Given the description of an element on the screen output the (x, y) to click on. 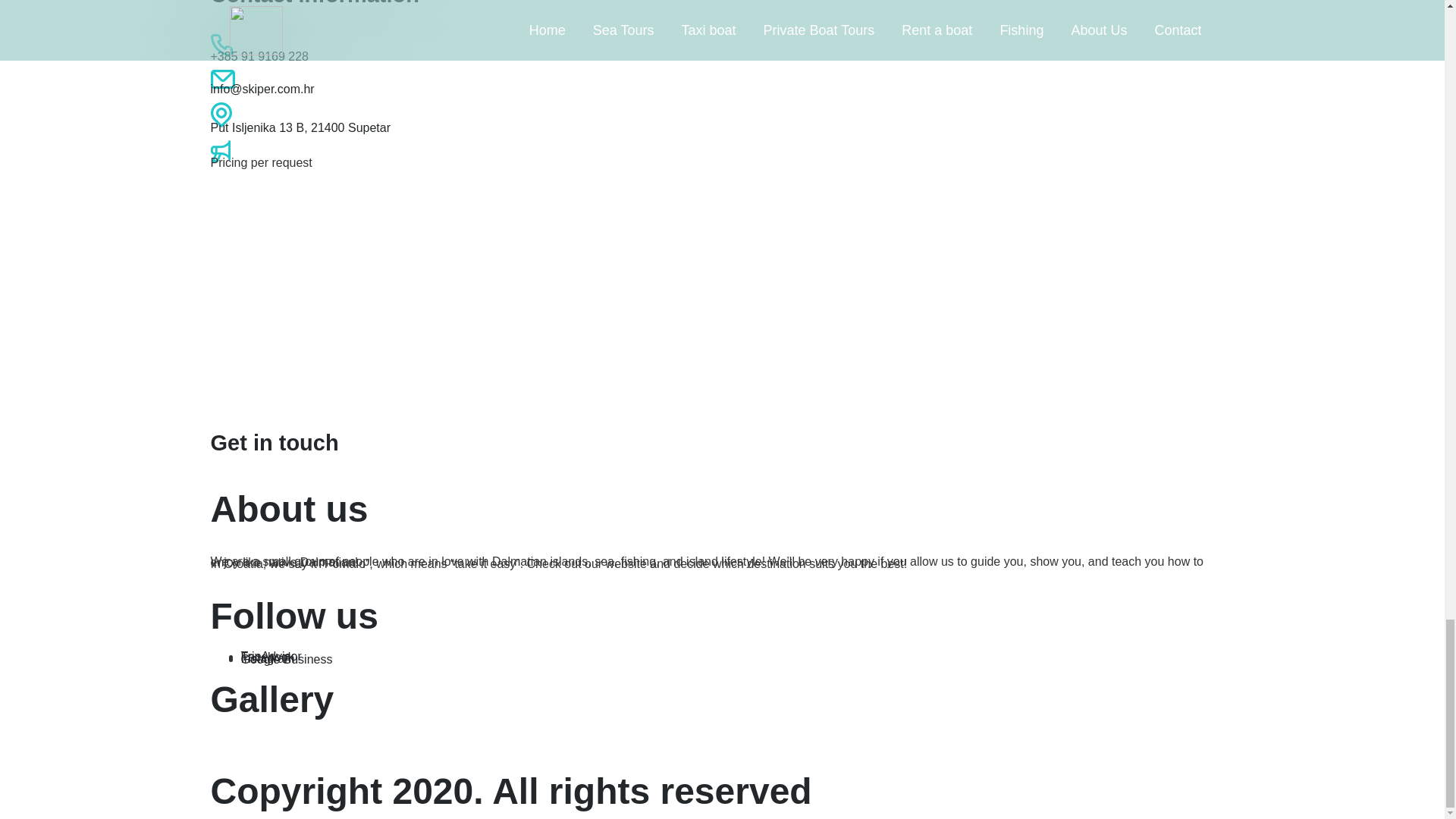
Facebook (267, 656)
Put Isljenika 13 B, 21400 Supetar (301, 127)
SKIPER-Exclusive Boat tours (324, 289)
Google Business (287, 658)
Instagram (268, 658)
TripAdvisor (271, 656)
